Given the description of an element on the screen output the (x, y) to click on. 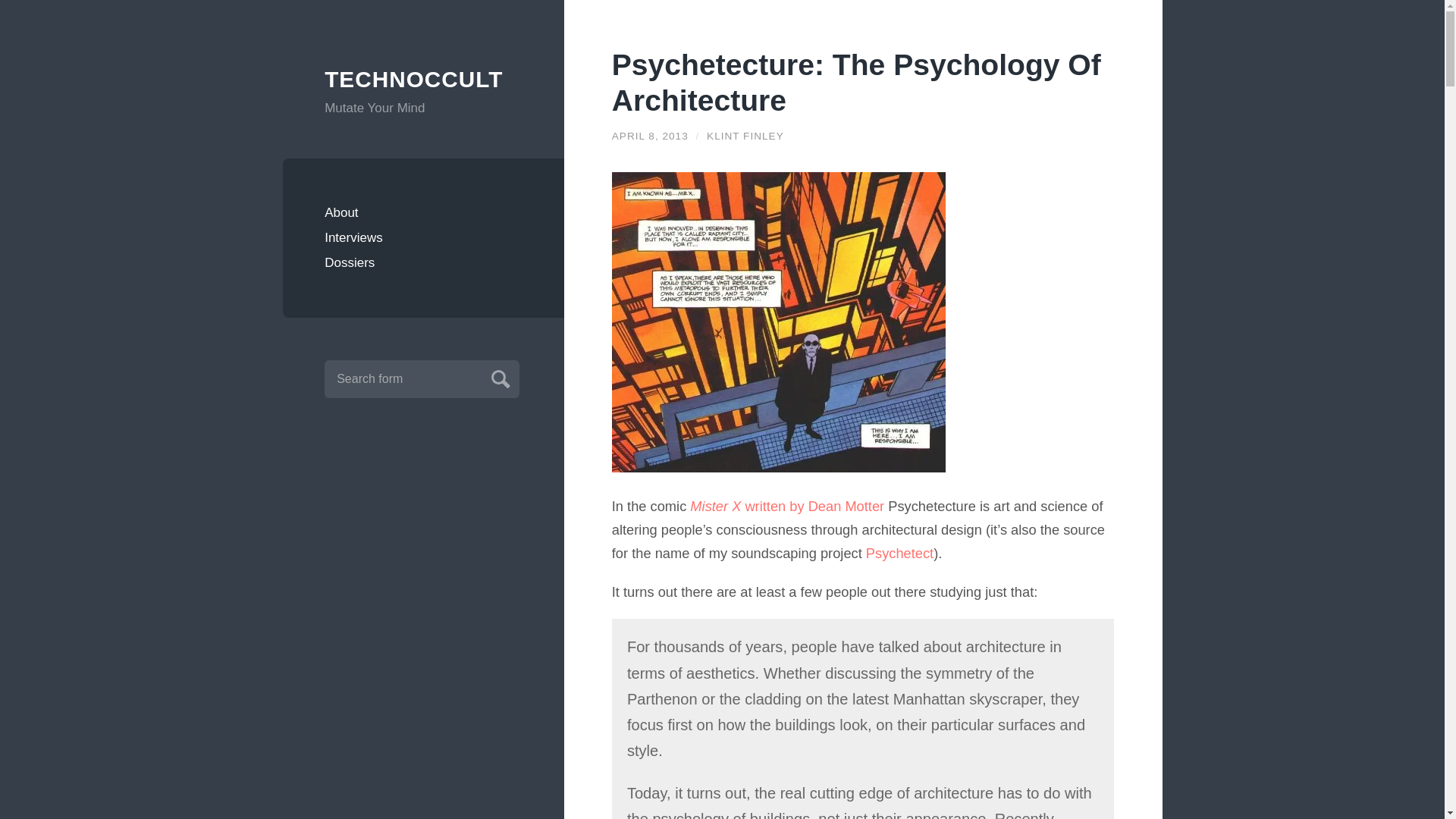
Submit (498, 377)
Psychetecture: The Psychology Of Architecture (649, 135)
KLINT FINLEY (745, 135)
Dossiers (422, 262)
Psychetecture: The Psychology Of Architecture (855, 82)
APRIL 8, 2013 (649, 135)
Posts by Klint Finley (745, 135)
Psychetecture: The Psychology Of Architecture (855, 82)
Interviews (422, 237)
TECHNOCCULT (422, 79)
Psychetect (899, 553)
Search (498, 377)
About (422, 212)
Mister X written by Dean Motter (786, 505)
